Given the description of an element on the screen output the (x, y) to click on. 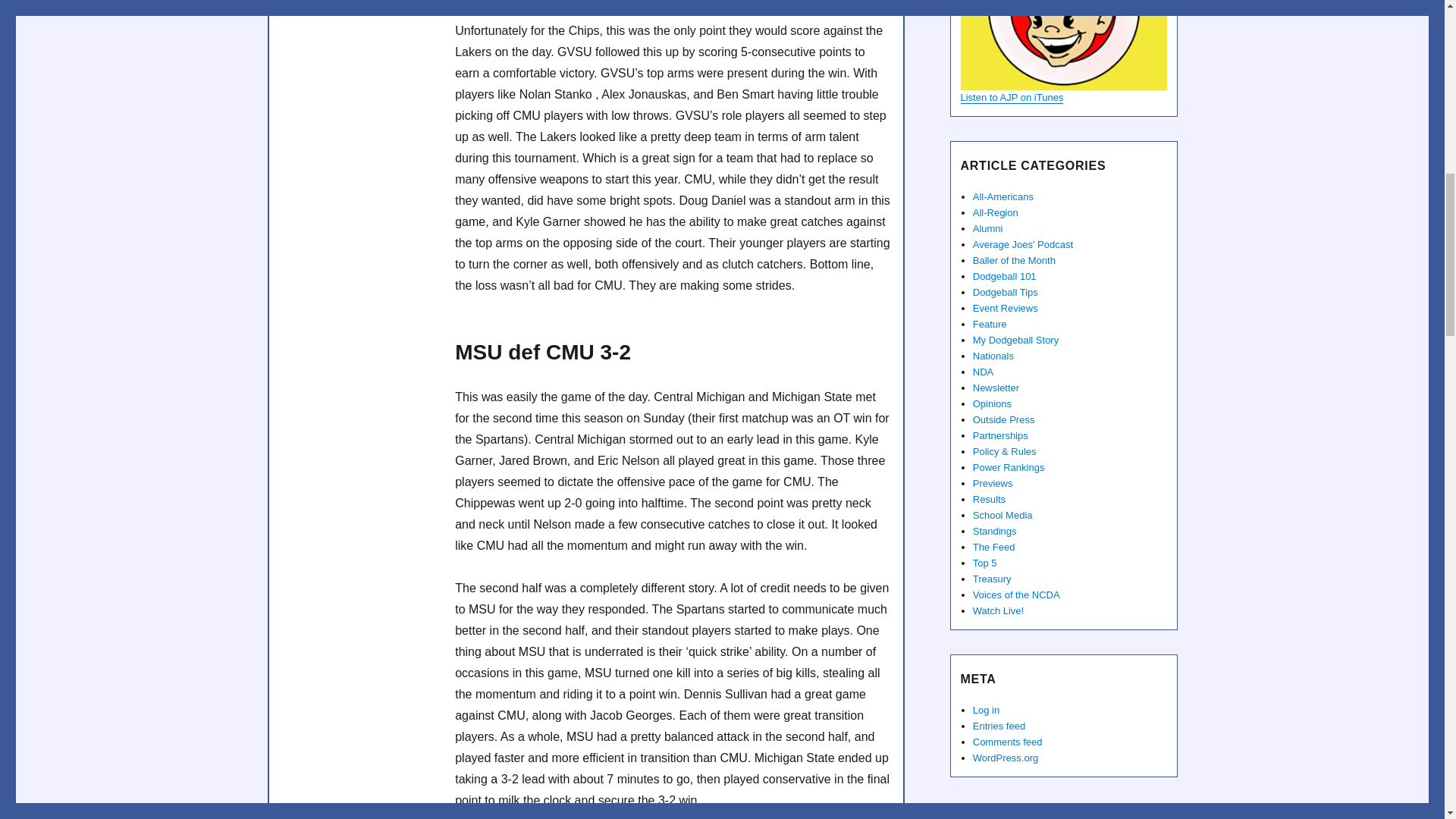
Average Joes' Podcast (1062, 45)
